Given the description of an element on the screen output the (x, y) to click on. 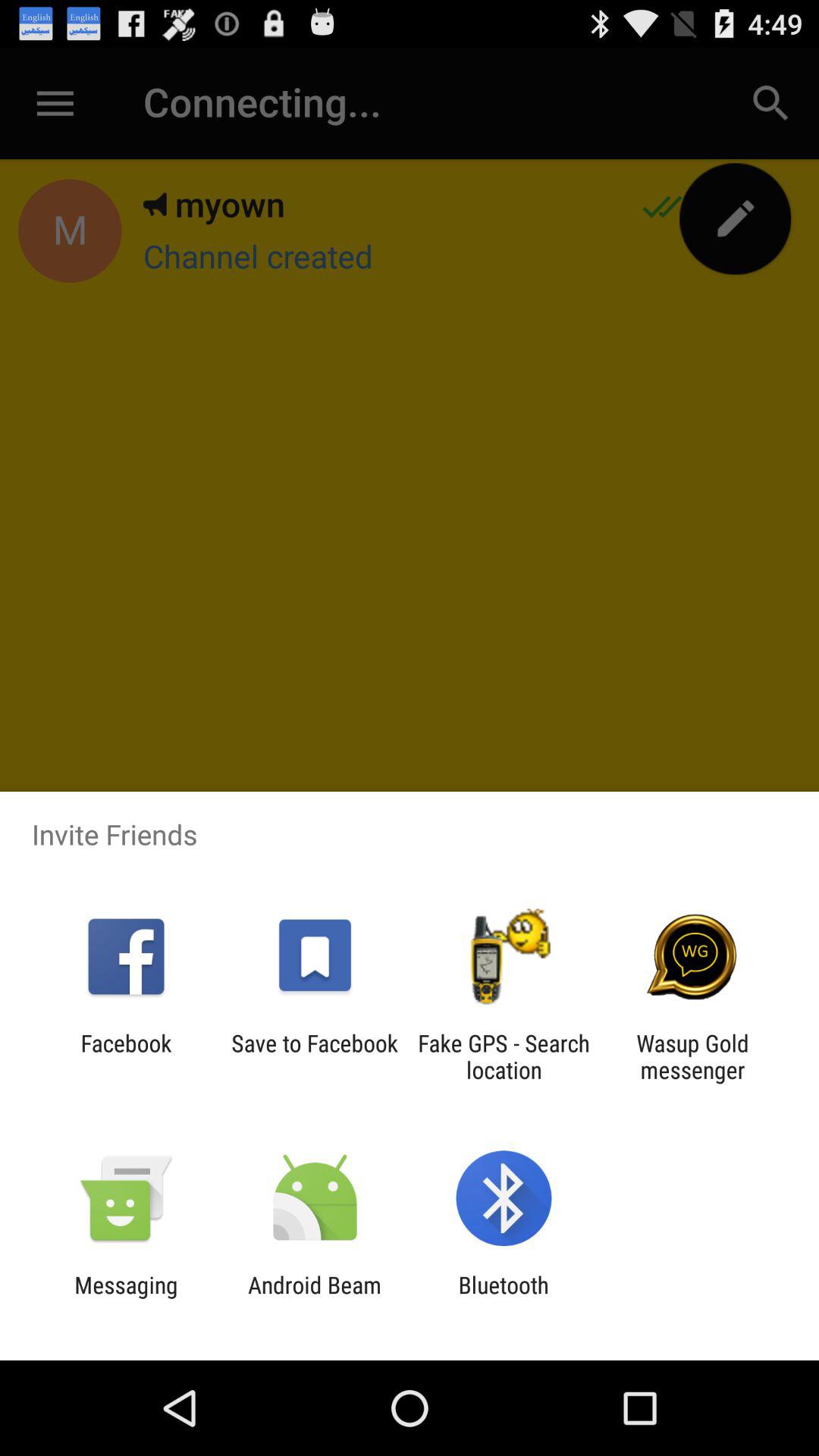
tap app to the right of the facebook item (314, 1056)
